Given the description of an element on the screen output the (x, y) to click on. 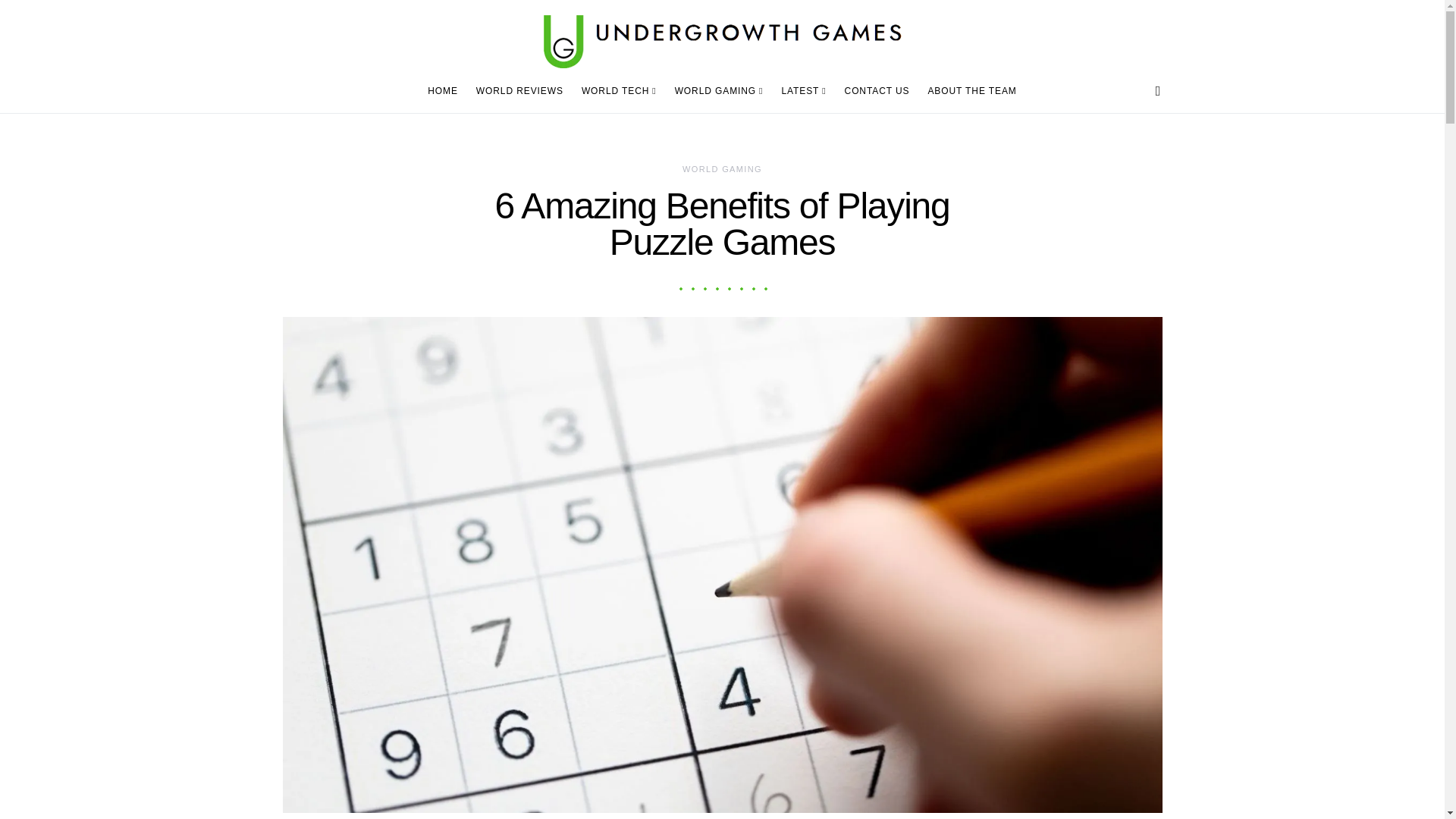
WORLD TECH (618, 90)
LATEST (802, 90)
ABOUT THE TEAM (967, 90)
WORLD REVIEWS (519, 90)
CONTACT US (876, 90)
WORLD GAMING (721, 168)
WORLD GAMING (719, 90)
